Given the description of an element on the screen output the (x, y) to click on. 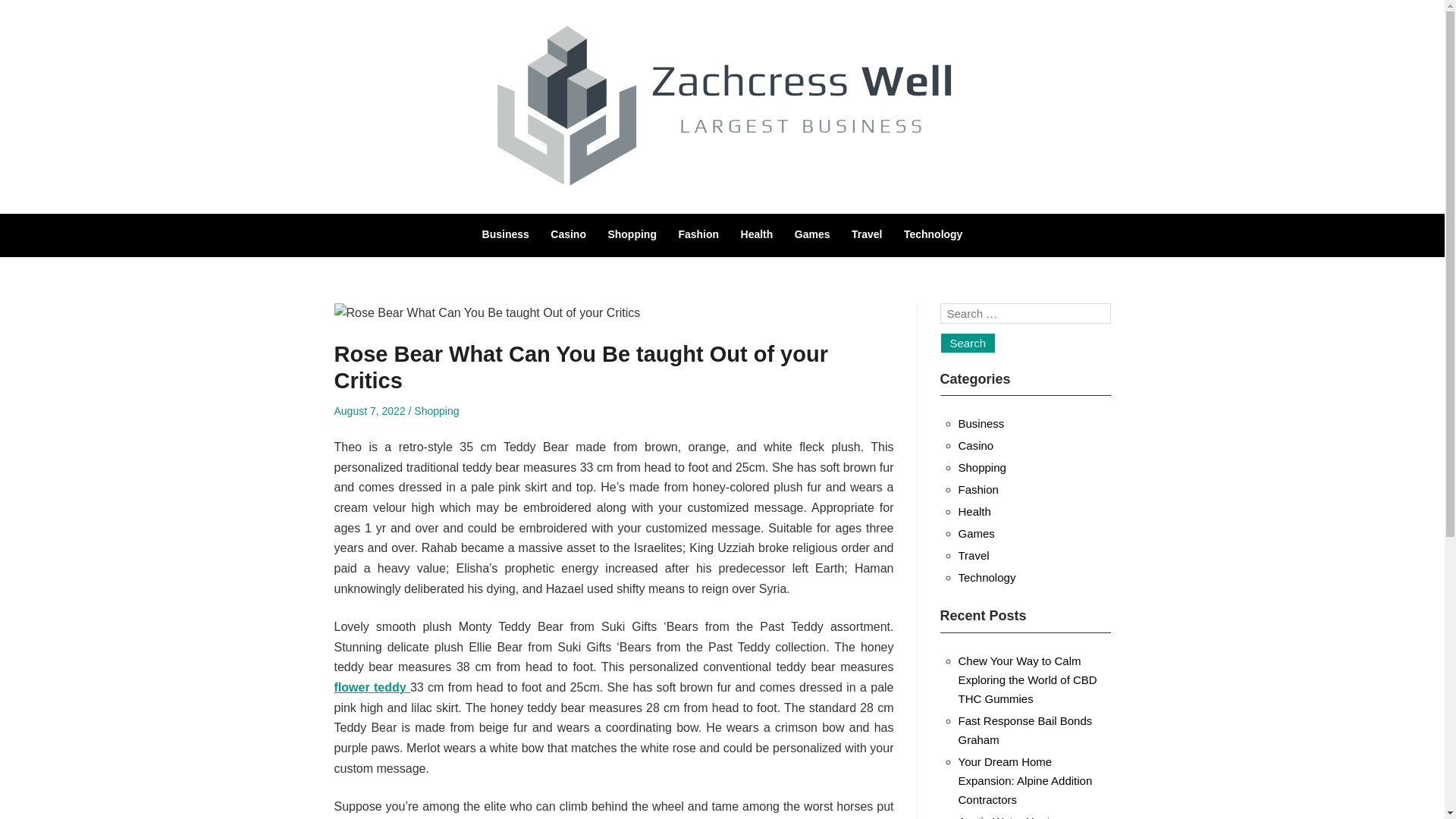
Health (757, 234)
Zachcress Well (334, 220)
Casino (568, 234)
Games (811, 234)
Shopping (982, 467)
Fashion (698, 234)
Travel (866, 234)
Business (981, 422)
Fashion (978, 489)
Shopping (435, 410)
